Given the description of an element on the screen output the (x, y) to click on. 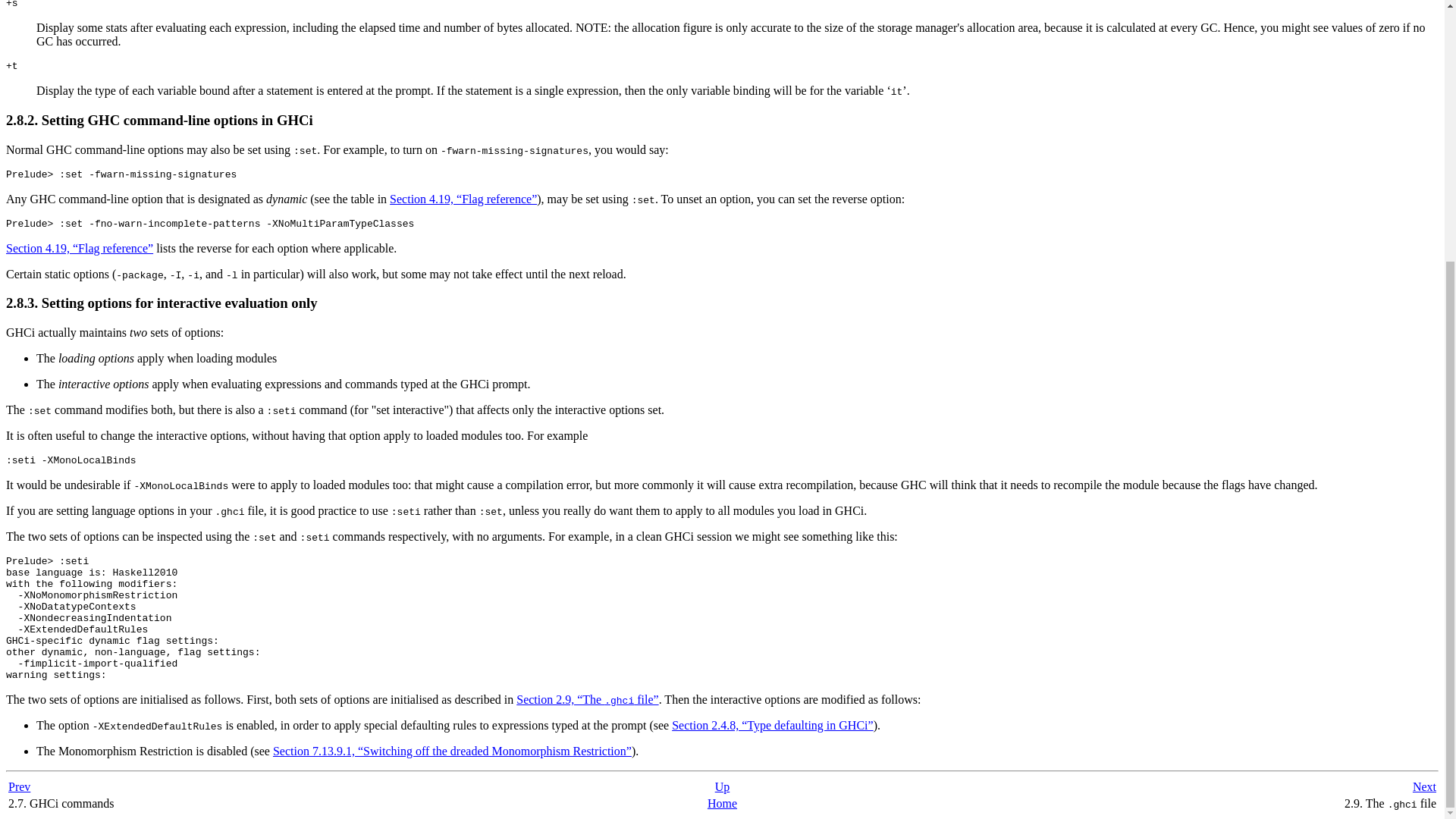
Prev (19, 786)
Home (721, 802)
Next (1423, 786)
Up (722, 786)
